Given the description of an element on the screen output the (x, y) to click on. 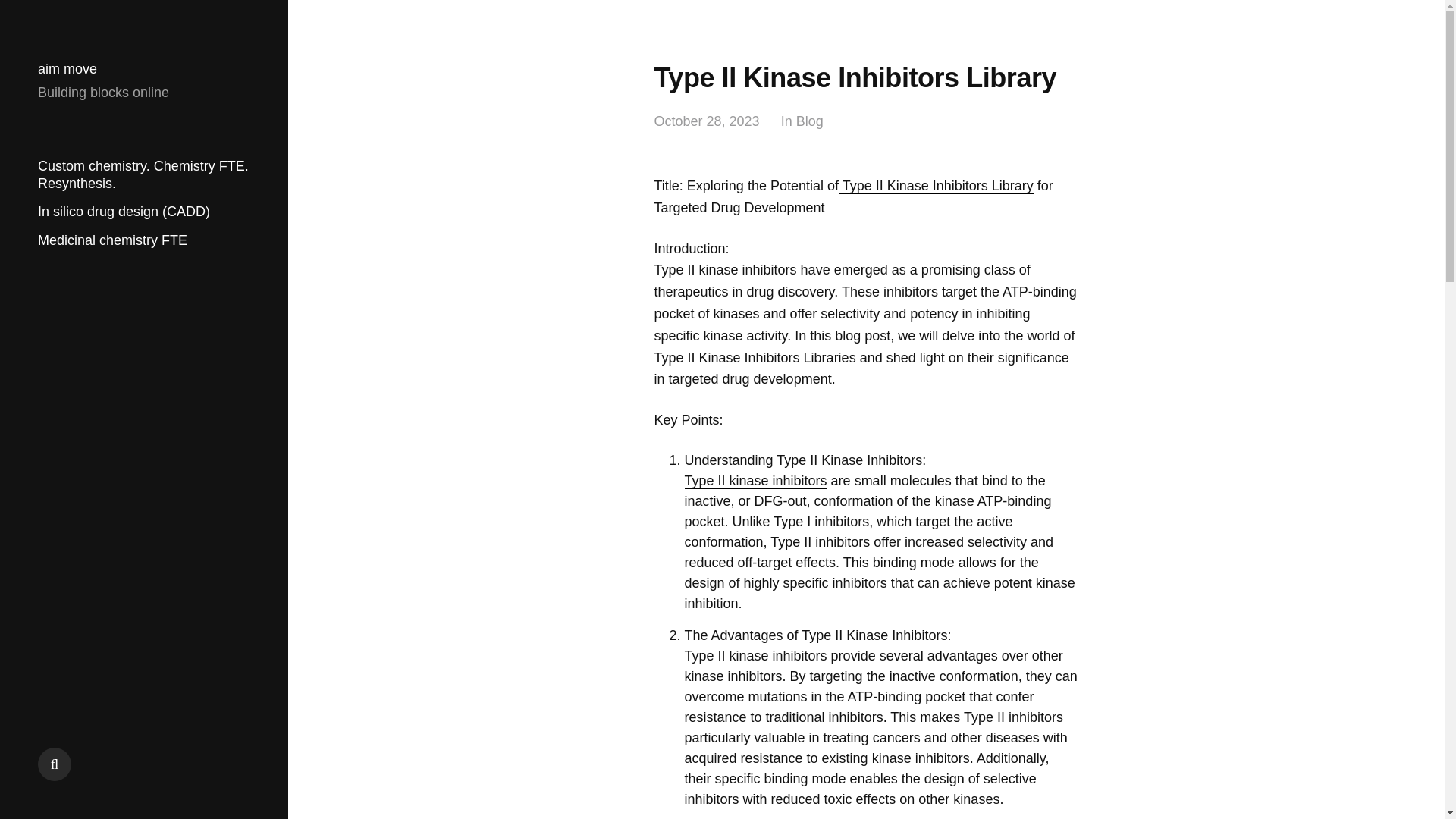
Blog (810, 121)
Type II kinase inhibitors (755, 656)
Type II kinase inhibitors (755, 480)
Medicinal chemistry FTE (112, 239)
Custom chemistry. Chemistry FTE. Resynthesis. (142, 174)
Type II kinase inhibitors (726, 270)
aim move (67, 68)
October 28, 2023 (705, 121)
Type II Kinase Inhibitors Library (935, 186)
